Given the description of an element on the screen output the (x, y) to click on. 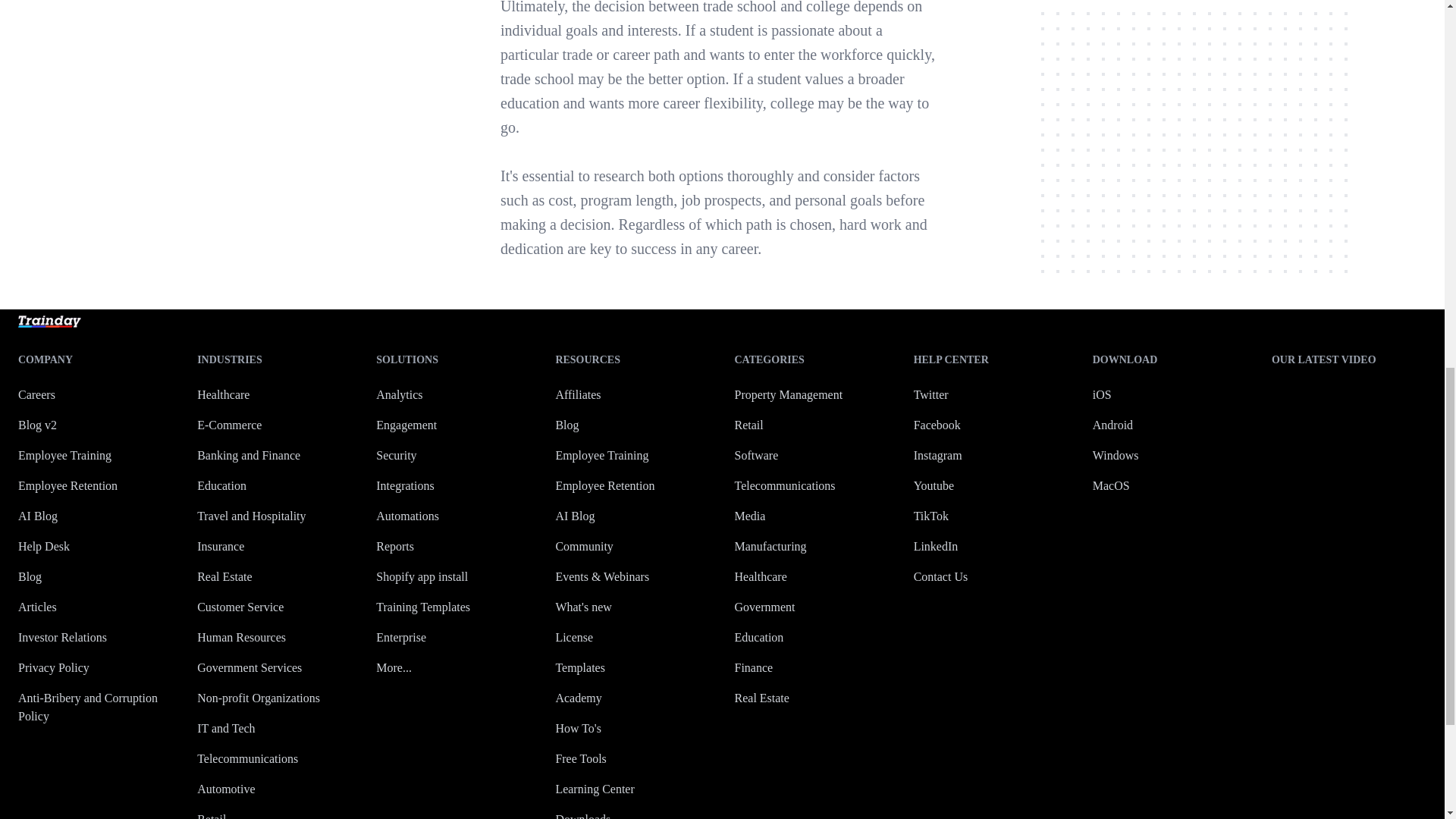
IT and Tech (225, 727)
Automotive (225, 788)
Government Services (248, 667)
Telecommunications (247, 758)
Help Desk (43, 545)
Human Resources (240, 636)
Anti-Bribery and Corruption Policy (87, 706)
Real Estate (223, 576)
Banking and Finance (247, 454)
E-Commerce (229, 424)
